Given the description of an element on the screen output the (x, y) to click on. 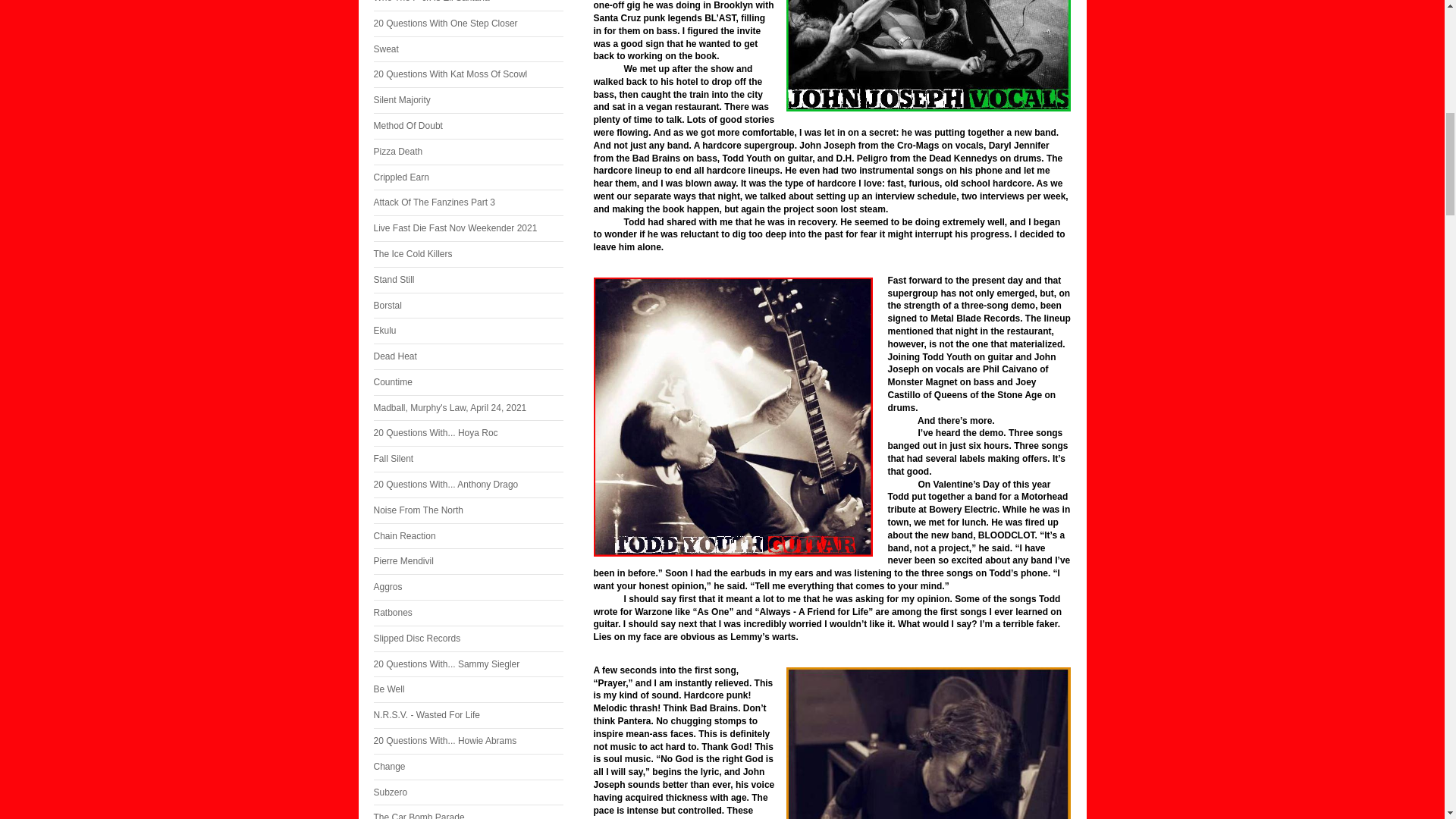
Silent Majority (467, 99)
20 Questions With Kat Moss Of Scowl (467, 74)
20 Questions With One Step Closer (467, 23)
Method Of Doubt (467, 126)
Sweat (467, 49)
